Given the description of an element on the screen output the (x, y) to click on. 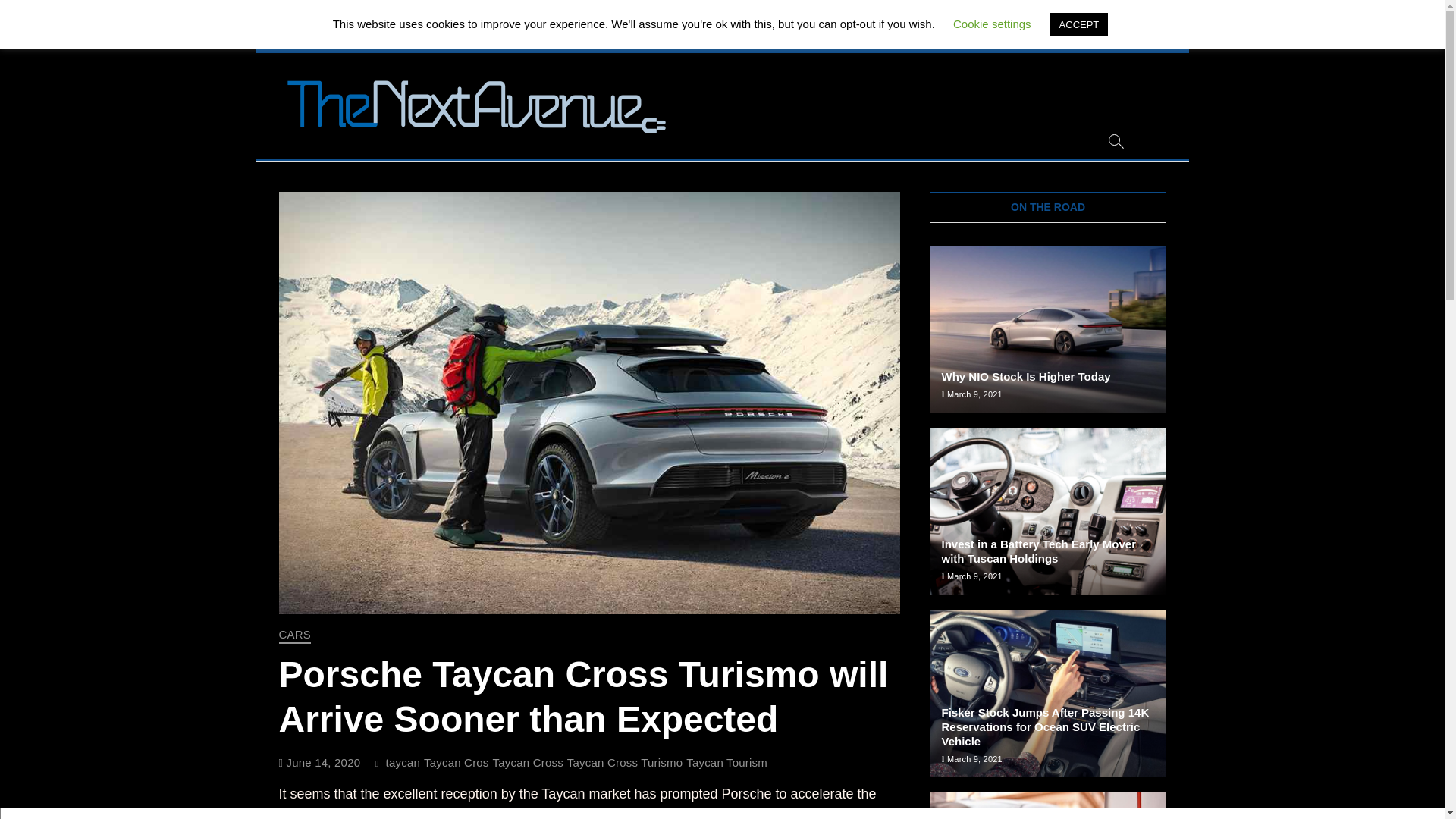
Home (435, 37)
Tesla (640, 37)
June 14, 2020 (320, 762)
Why NIO Stock Is Higher Today (1026, 376)
Categories (869, 37)
Taycan Cros (458, 764)
Rivian (599, 37)
Boards (480, 37)
CARS (295, 635)
Taycan Cross Turismo (626, 764)
